Given the description of an element on the screen output the (x, y) to click on. 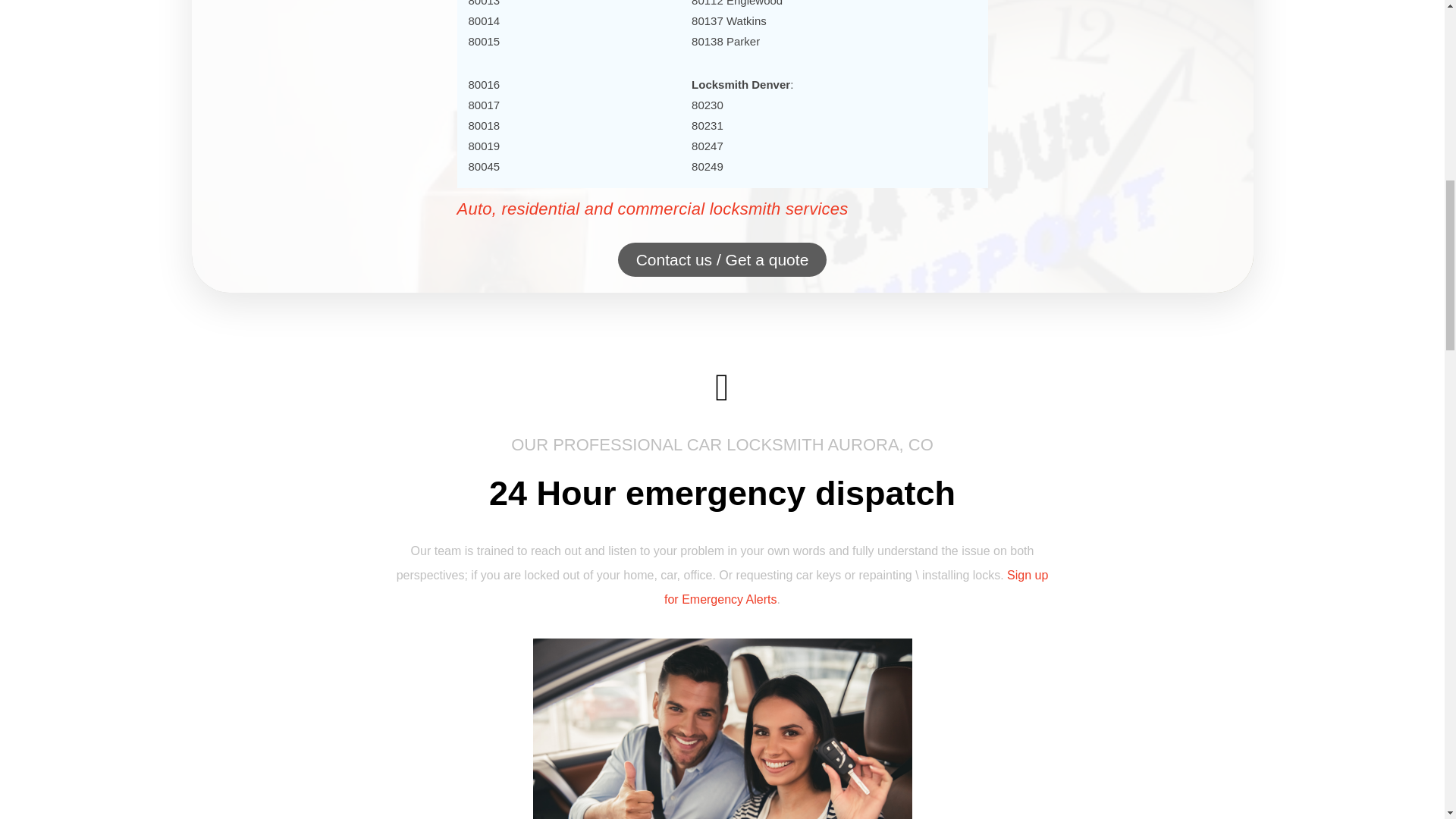
Sign up for Emergency Alerts (855, 587)
